Given the description of an element on the screen output the (x, y) to click on. 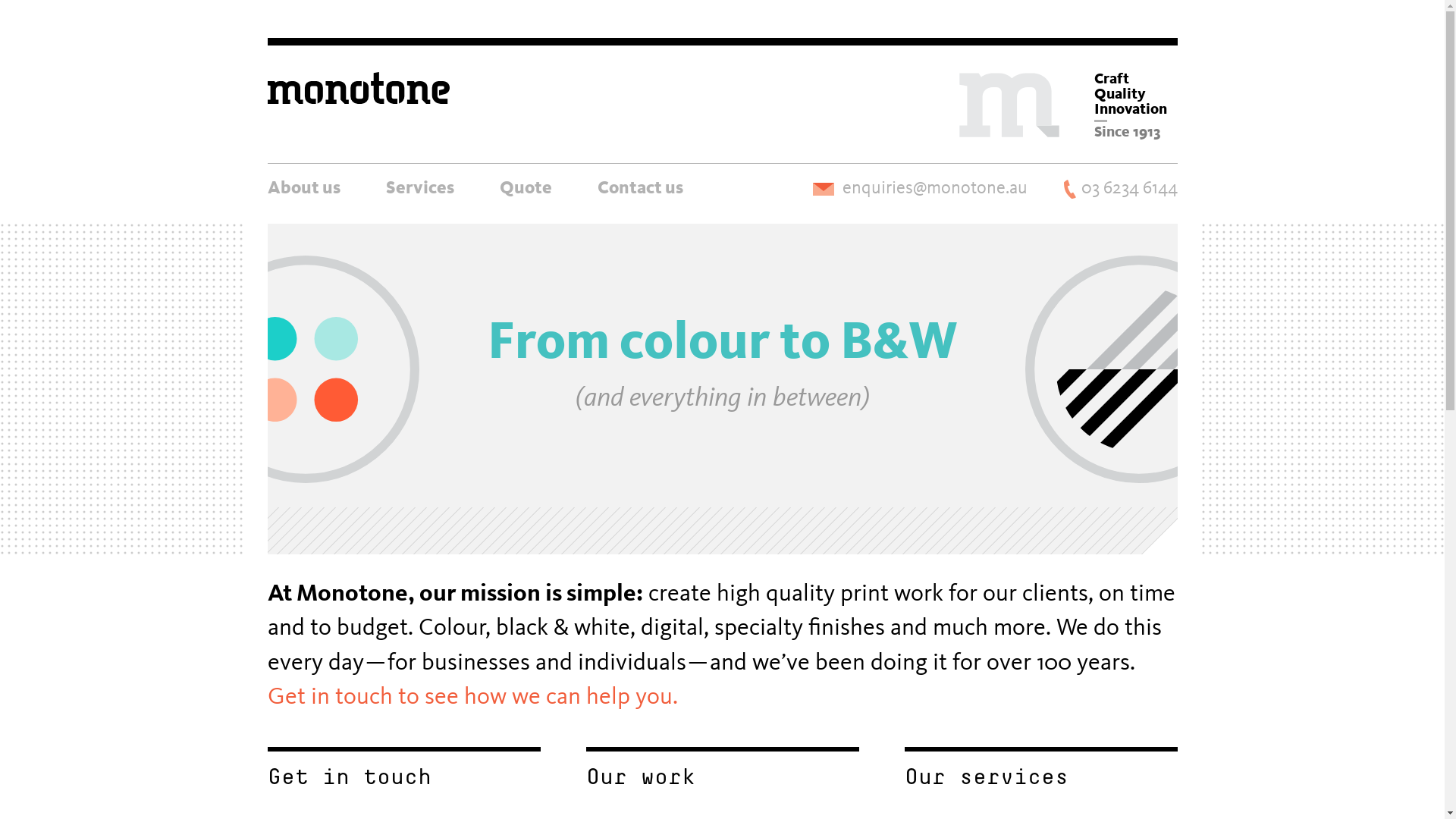
About us Element type: text (302, 186)
enquiries@monotone.au Element type: text (919, 188)
Contact us Element type: text (640, 186)
Quote Element type: text (524, 186)
Get in touch to see how we can help you. Element type: text (471, 697)
03 6234 6144 Element type: text (1119, 188)
Services Element type: text (419, 186)
